Given the description of an element on the screen output the (x, y) to click on. 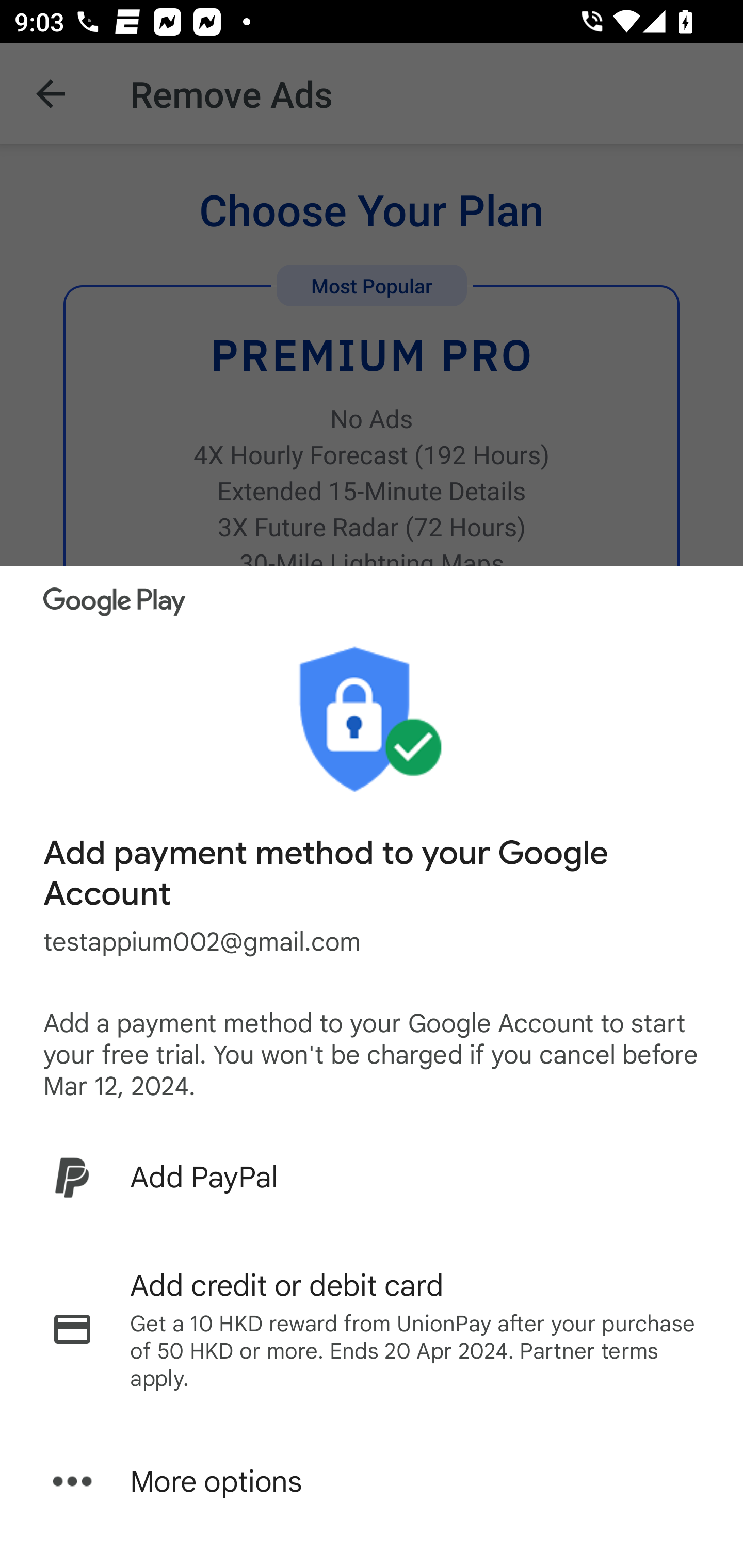
Add PayPal (371, 1177)
More options (371, 1481)
